Given the description of an element on the screen output the (x, y) to click on. 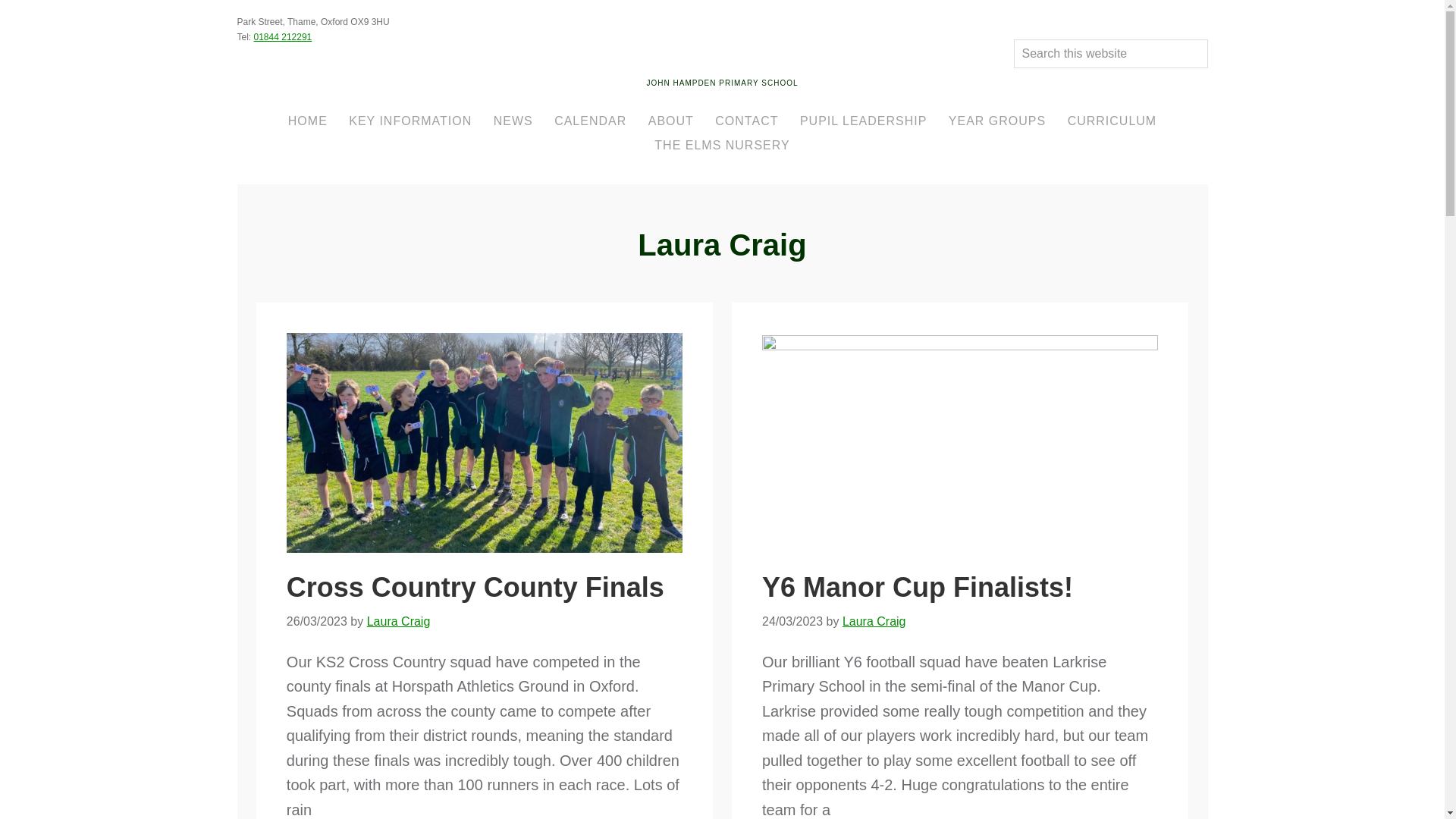
CALENDAR (589, 120)
HOME (307, 120)
KEY INFORMATION (409, 120)
YEAR GROUPS (996, 120)
CURRICULUM (1112, 120)
PUPIL LEADERSHIP (863, 120)
JOHN HAMPDEN PRIMARY SCHOOL (721, 82)
NEWS (512, 120)
